Given the description of an element on the screen output the (x, y) to click on. 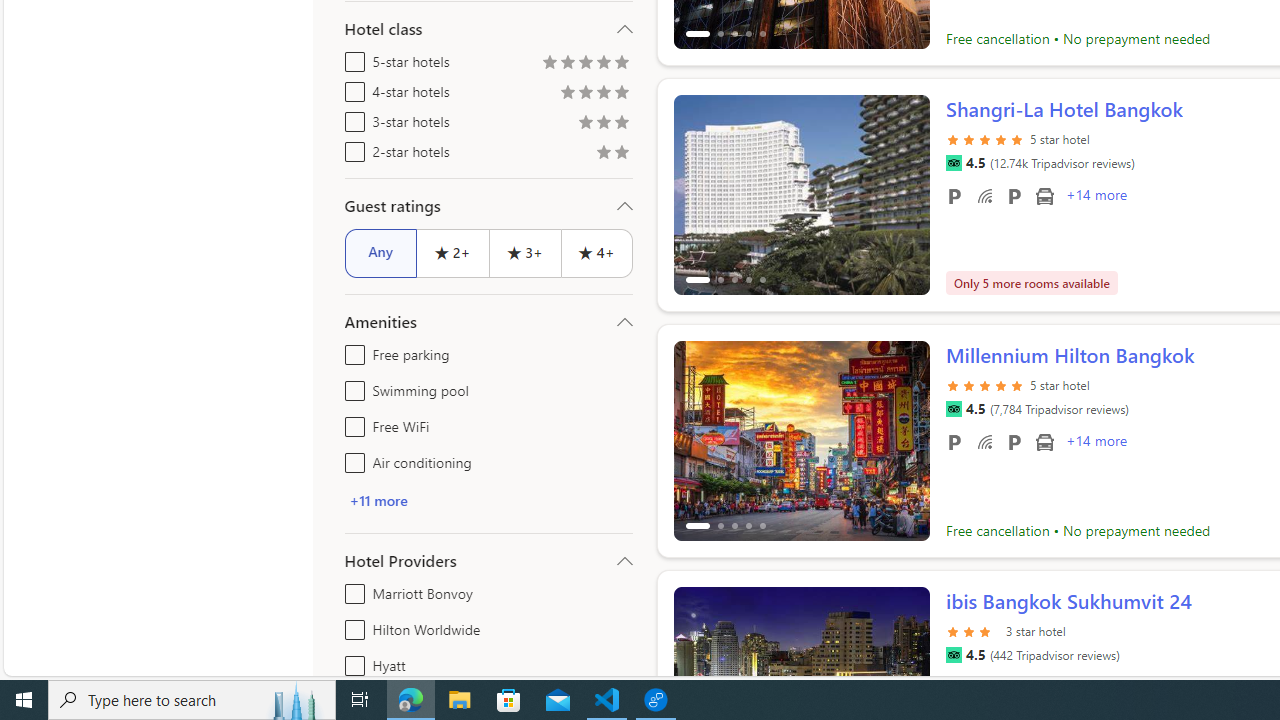
2-star hotels (351, 147)
Any (380, 252)
Guest ratings (488, 205)
Hilton Worldwide (351, 625)
Slide 1 (801, 440)
4-star hotels (351, 88)
Free WiFi (984, 441)
Amenities (488, 321)
Rating (621, 154)
Tripadvisor (953, 655)
Free parking (351, 350)
Valet parking (1014, 441)
star rating (973, 630)
Air conditioning (351, 458)
3+ (523, 252)
